Given the description of an element on the screen output the (x, y) to click on. 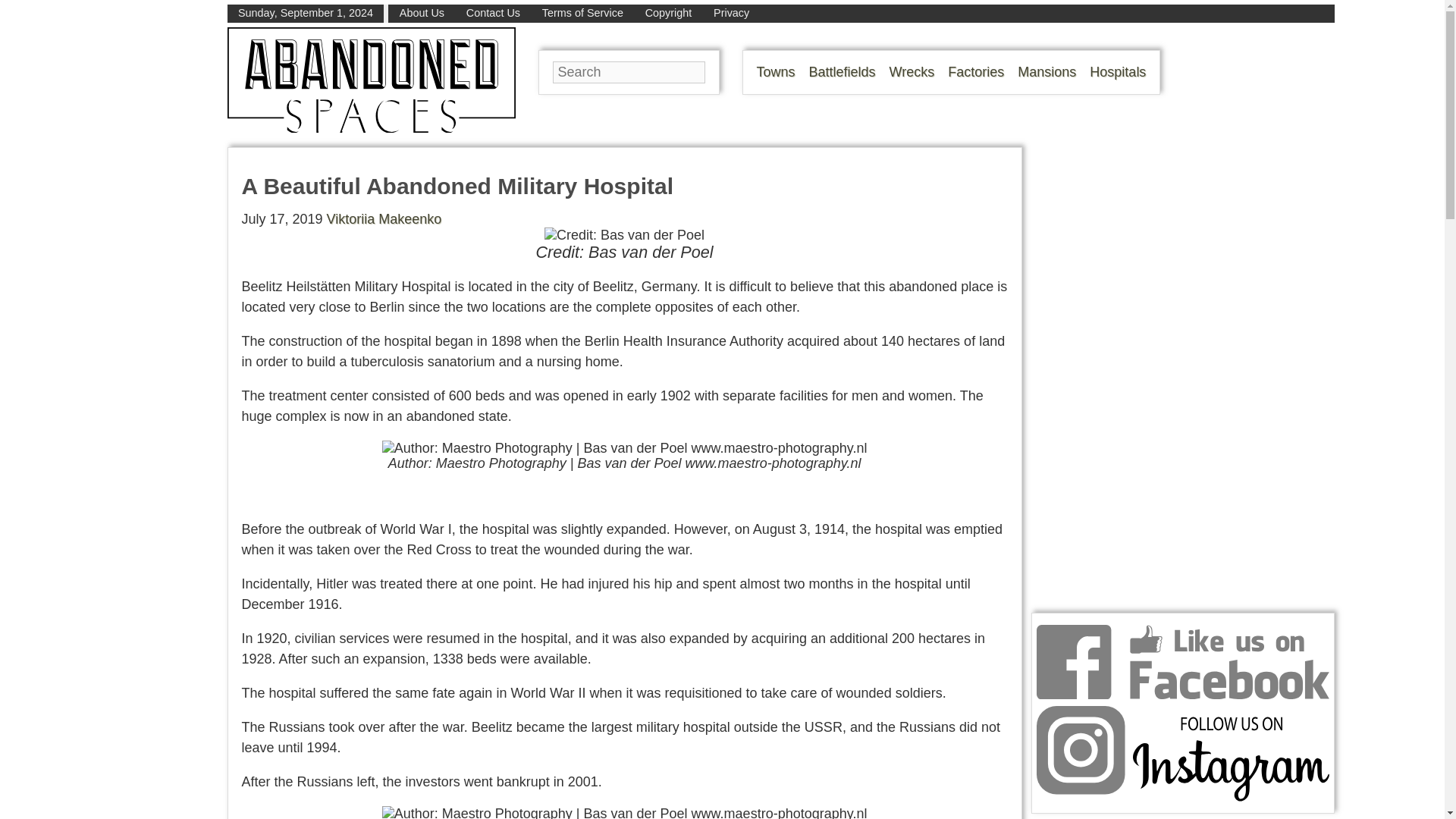
Factories (975, 71)
Terms of Service (582, 12)
Hospitals (1117, 71)
Wrecks (911, 71)
Copyright (669, 12)
Privacy (731, 12)
Towns (775, 71)
Credit: Bas van der Poel (624, 244)
About Us (421, 12)
Contact Us (492, 12)
